Given the description of an element on the screen output the (x, y) to click on. 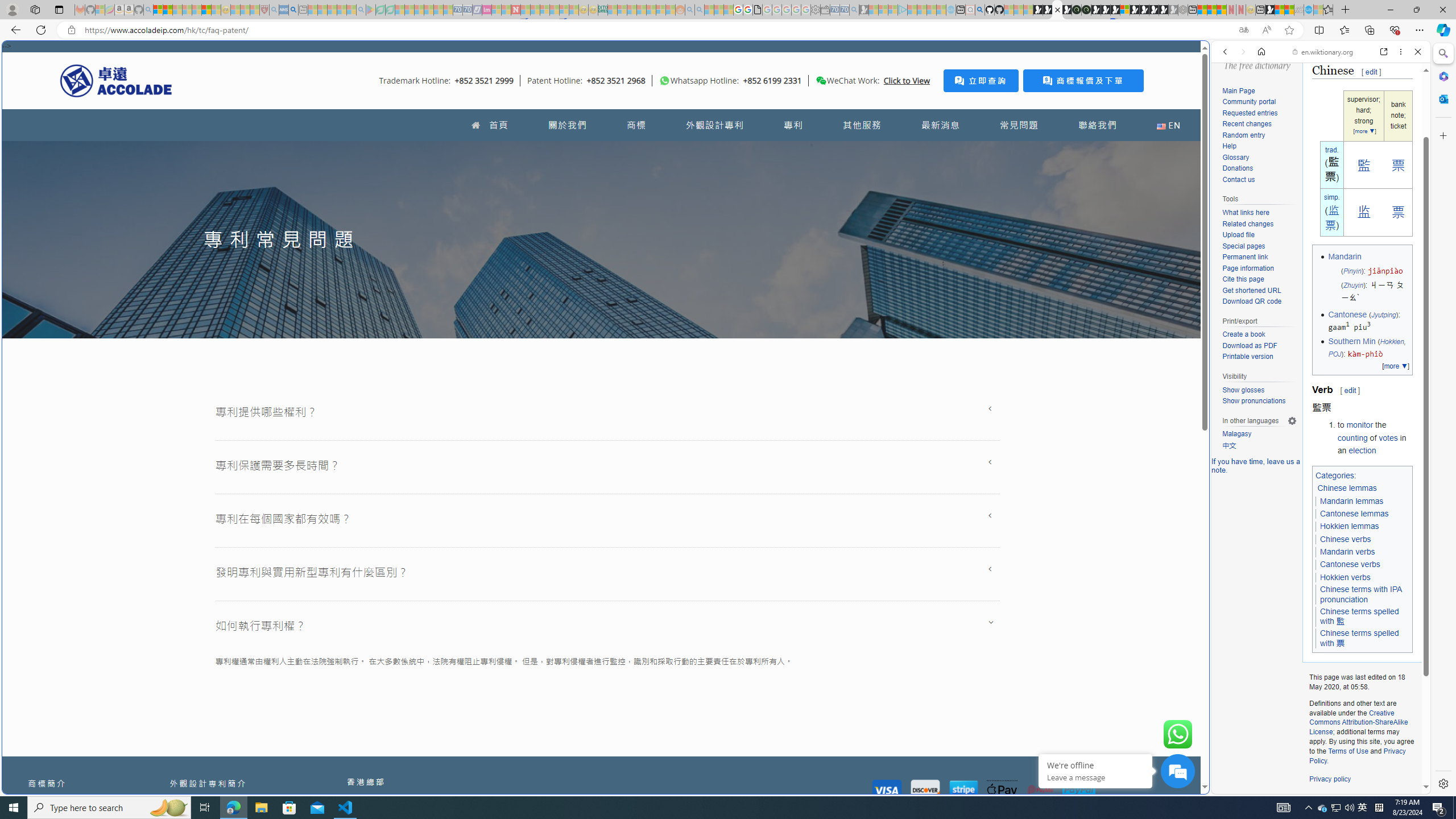
Chinese lemmas (1347, 488)
Tabs you've opened (885, 151)
Microsoft-Report a Concern to Bing - Sleeping (99, 9)
Cite this page (1242, 279)
Home | Sky Blue Bikes - Sky Blue Bikes - Sleeping (950, 9)
Help (1228, 146)
Recipes - MSN - Sleeping (234, 9)
edit (1349, 389)
Categories (1335, 474)
VIDEOS (1300, 130)
Donations (1259, 168)
